Given the description of an element on the screen output the (x, y) to click on. 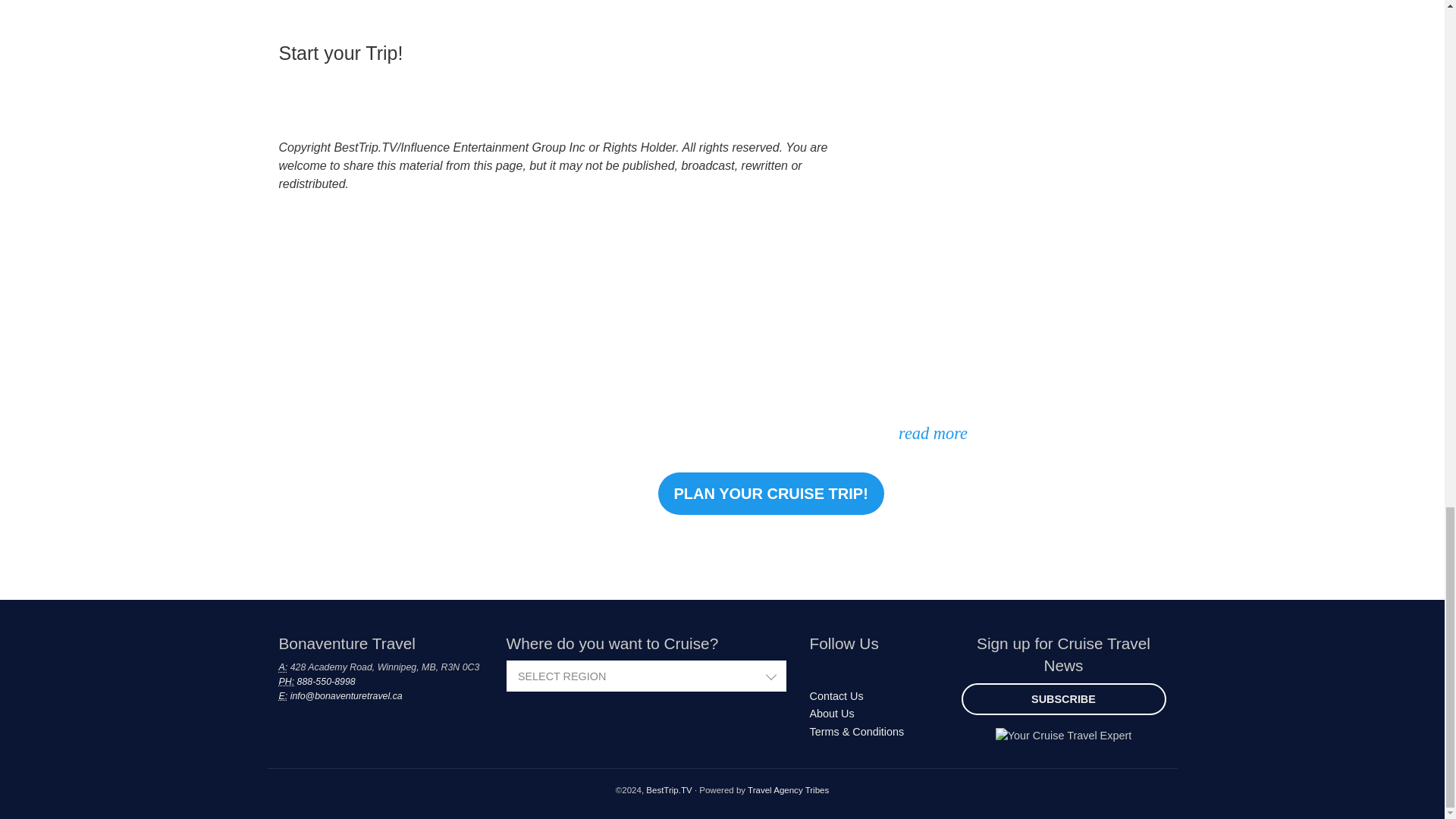
Address (283, 666)
Phone (287, 681)
Email (283, 696)
